Given the description of an element on the screen output the (x, y) to click on. 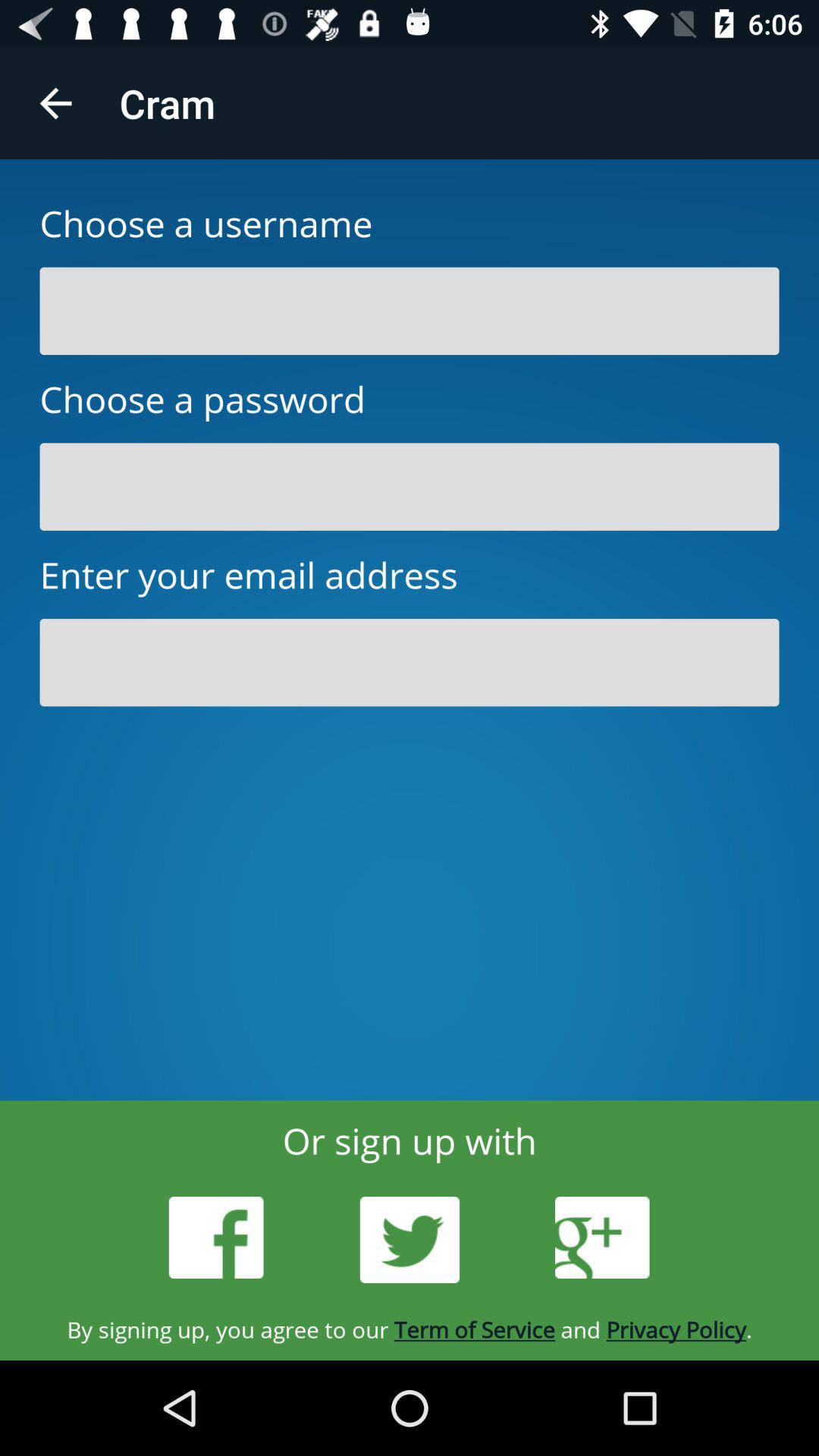
launch the icon below or sign up item (602, 1237)
